Given the description of an element on the screen output the (x, y) to click on. 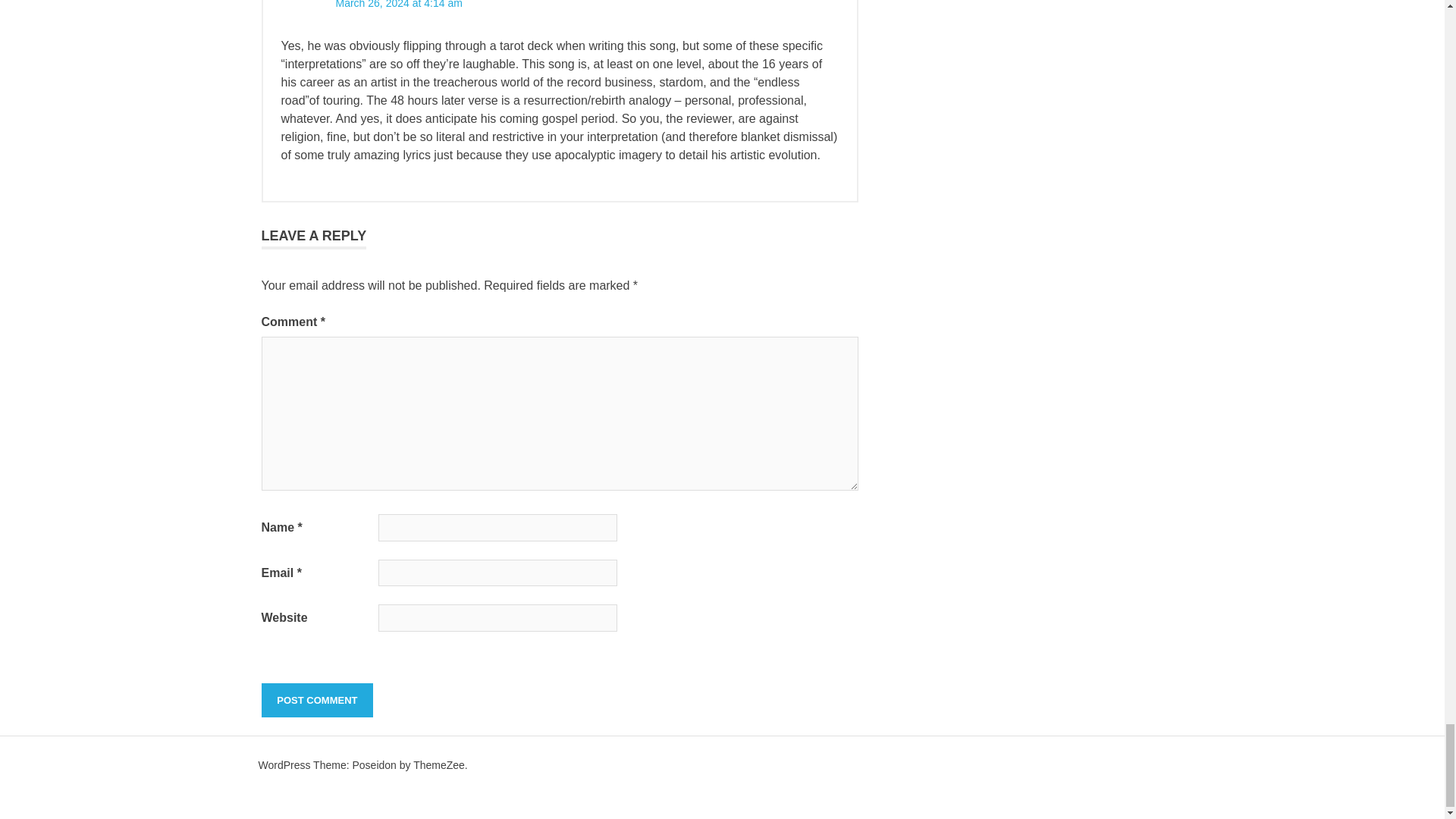
Post Comment (316, 700)
March 26, 2024 at 4:14 am (397, 4)
Post Comment (316, 700)
